Given the description of an element on the screen output the (x, y) to click on. 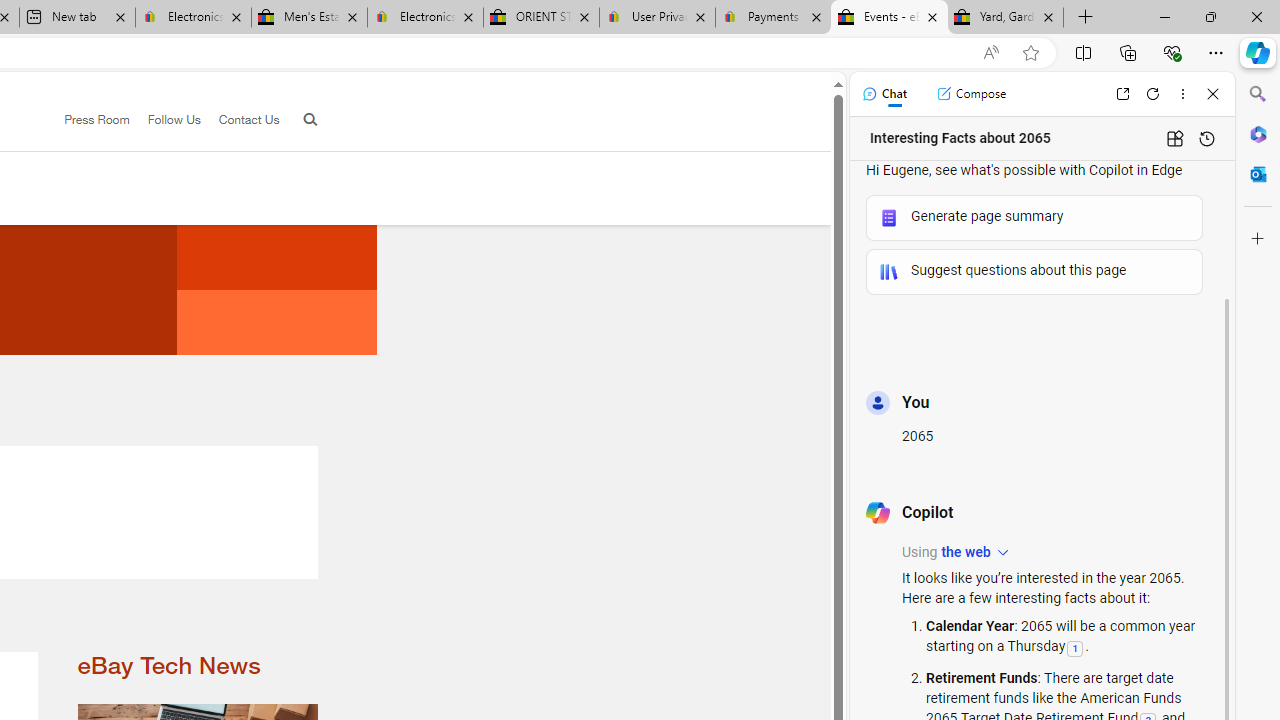
Contact Us (239, 120)
Press Room (97, 119)
